Given the description of an element on the screen output the (x, y) to click on. 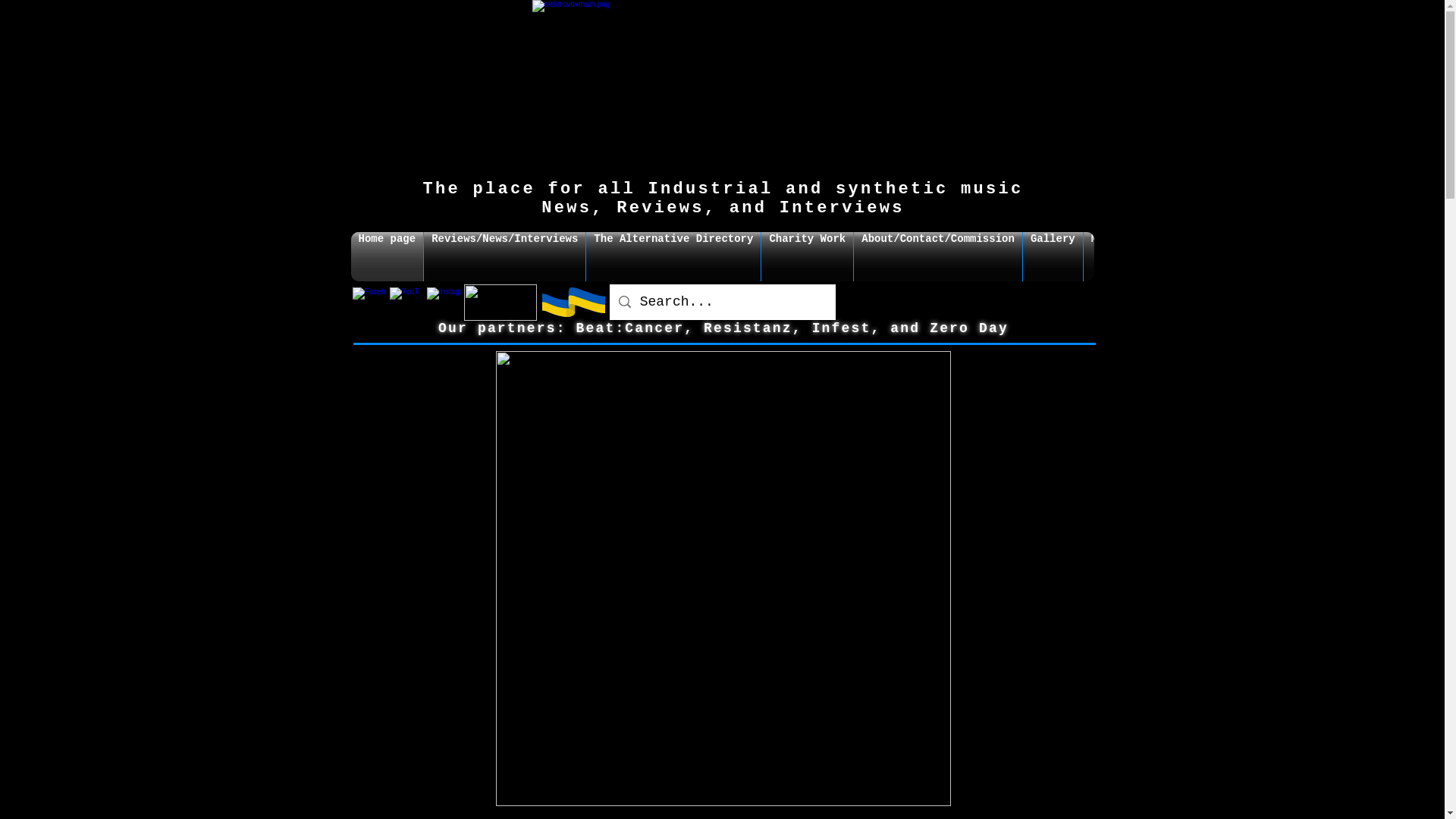
Home page (386, 256)
Gallery (1053, 256)
Charity Work (807, 256)
The Alternative Directory (673, 256)
